Given the description of an element on the screen output the (x, y) to click on. 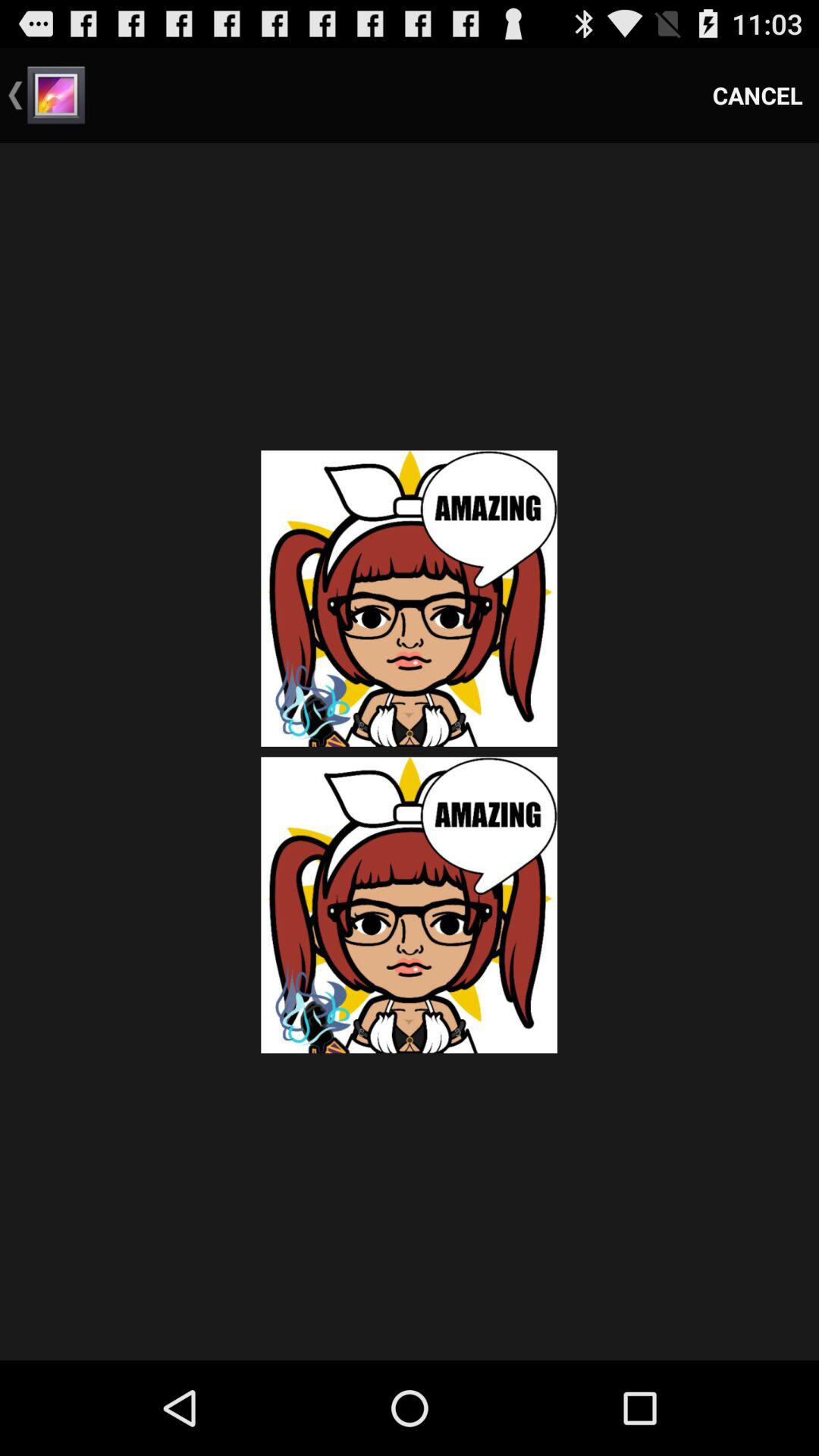
turn off item at the top right corner (757, 95)
